Given the description of an element on the screen output the (x, y) to click on. 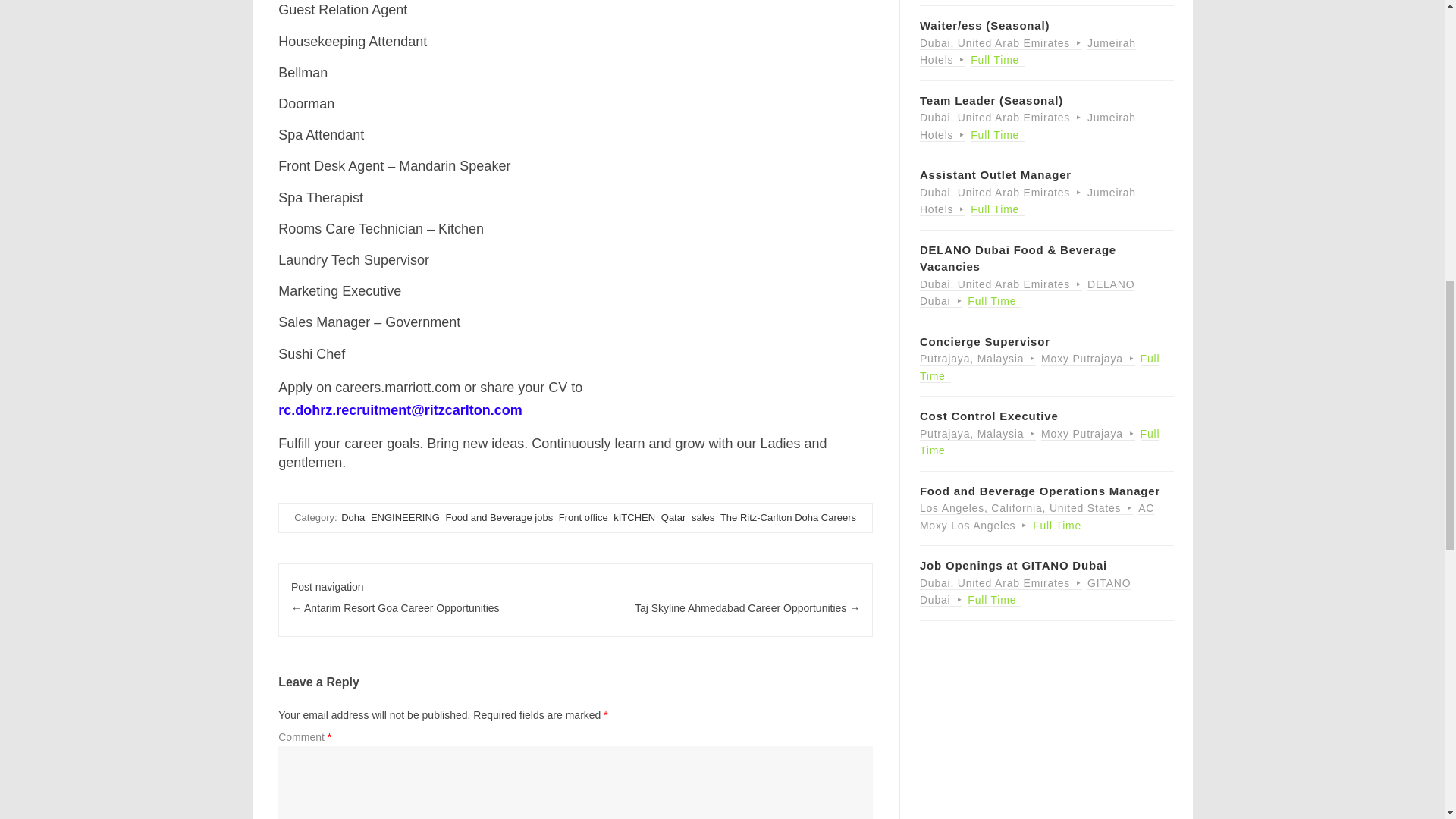
kITCHEN (633, 517)
Qatar (673, 517)
Front office (583, 517)
The Ritz-Carlton Doha Careers (788, 517)
Food and Beverage jobs (499, 517)
ENGINEERING (405, 517)
sales (703, 517)
Doha (352, 517)
